Given the description of an element on the screen output the (x, y) to click on. 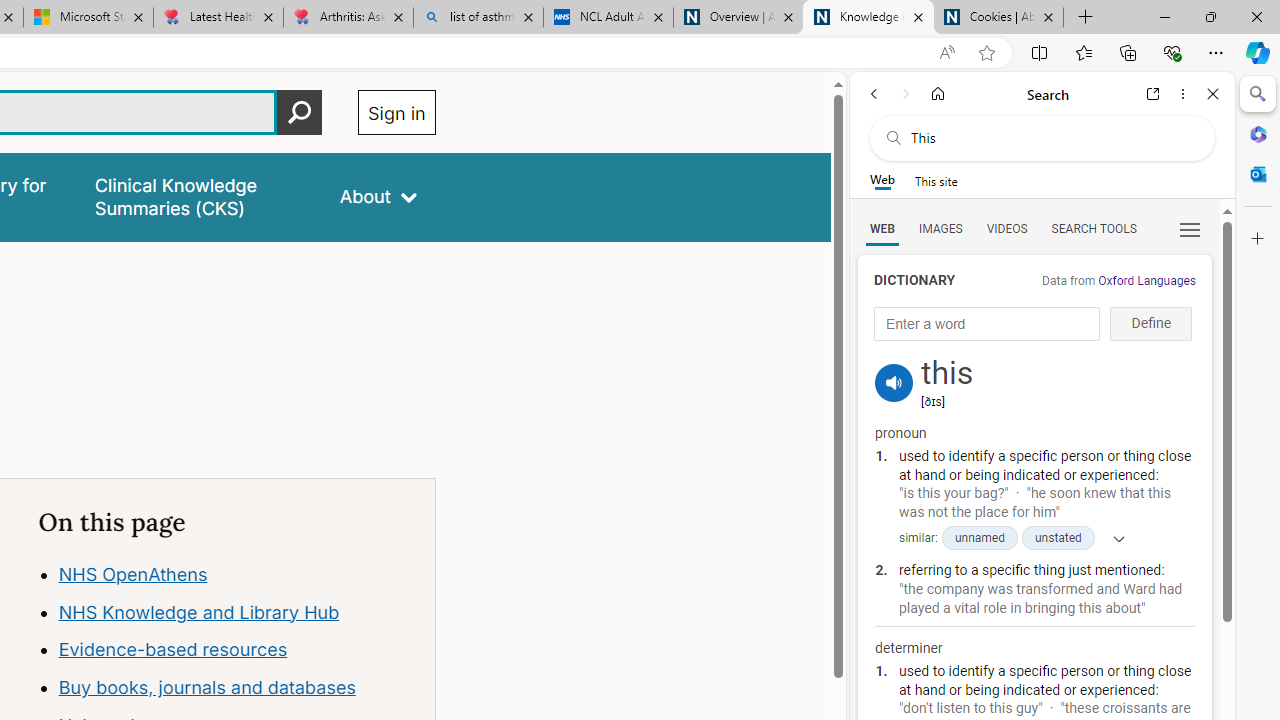
WEB   (882, 228)
Oxford Languages (1146, 281)
Link for logging (893, 359)
Enter a word (987, 323)
